Given the description of an element on the screen output the (x, y) to click on. 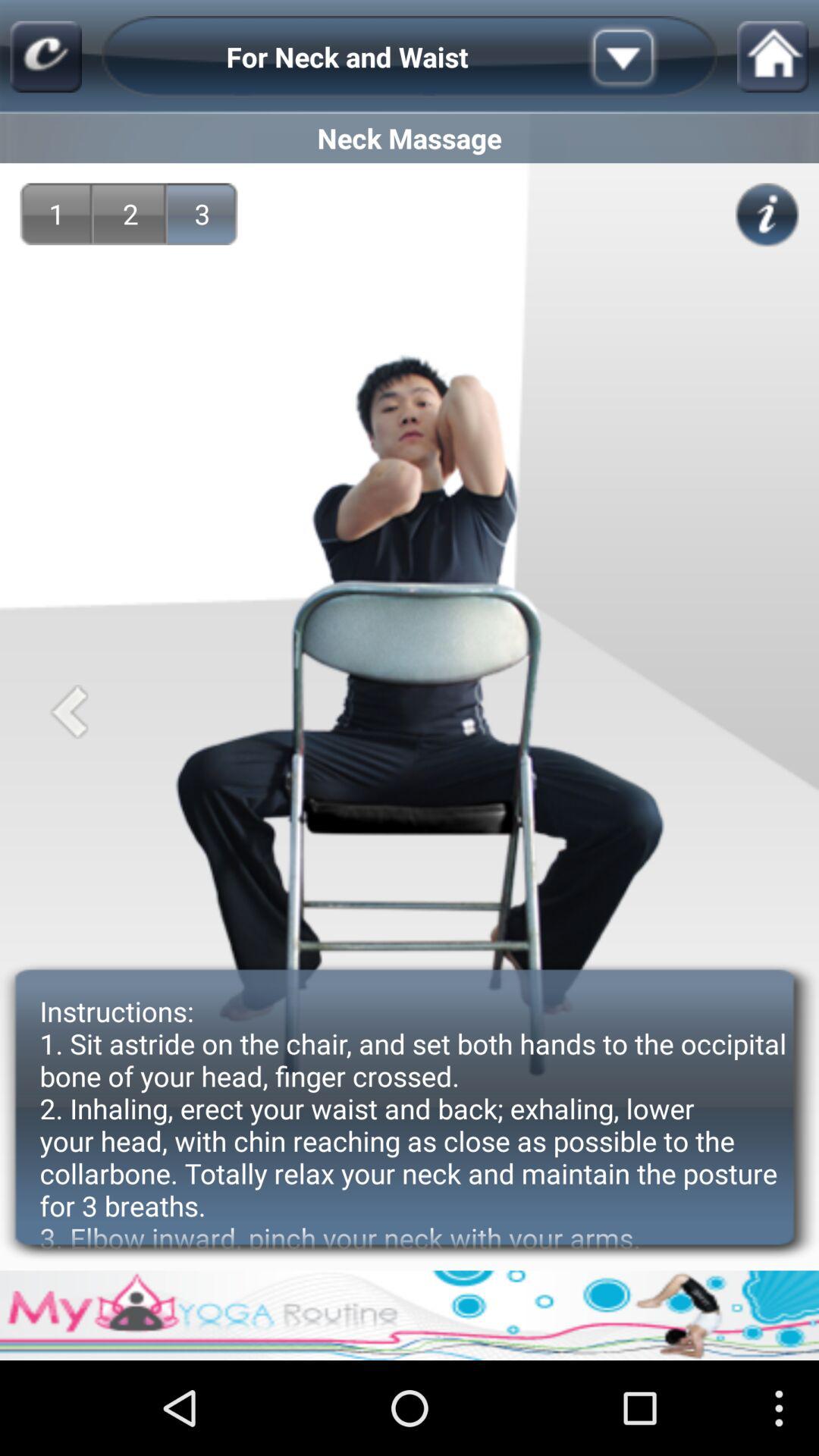
press the item above instructions 1 sit (202, 214)
